Given the description of an element on the screen output the (x, y) to click on. 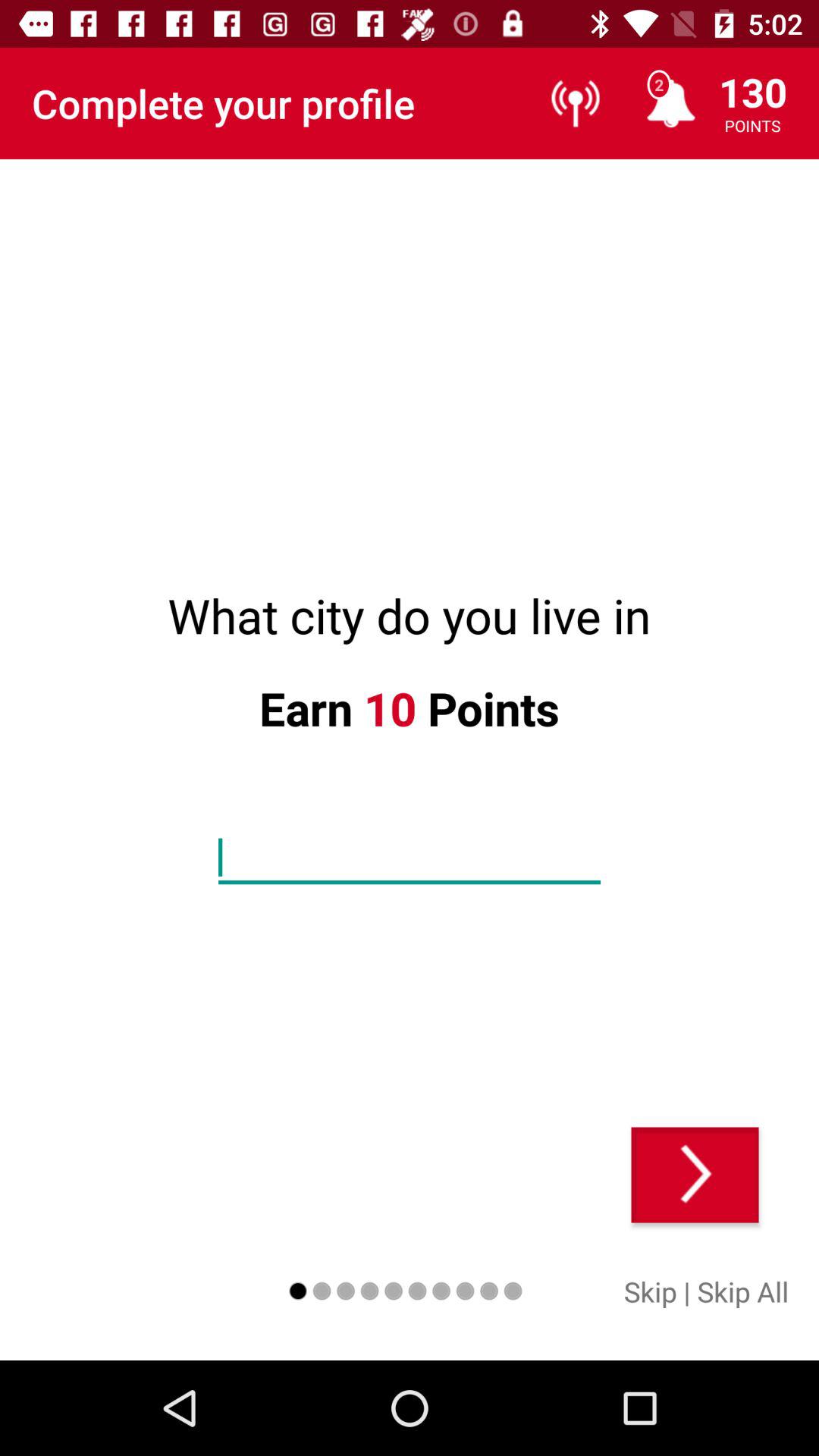
go back (694, 1174)
